Given the description of an element on the screen output the (x, y) to click on. 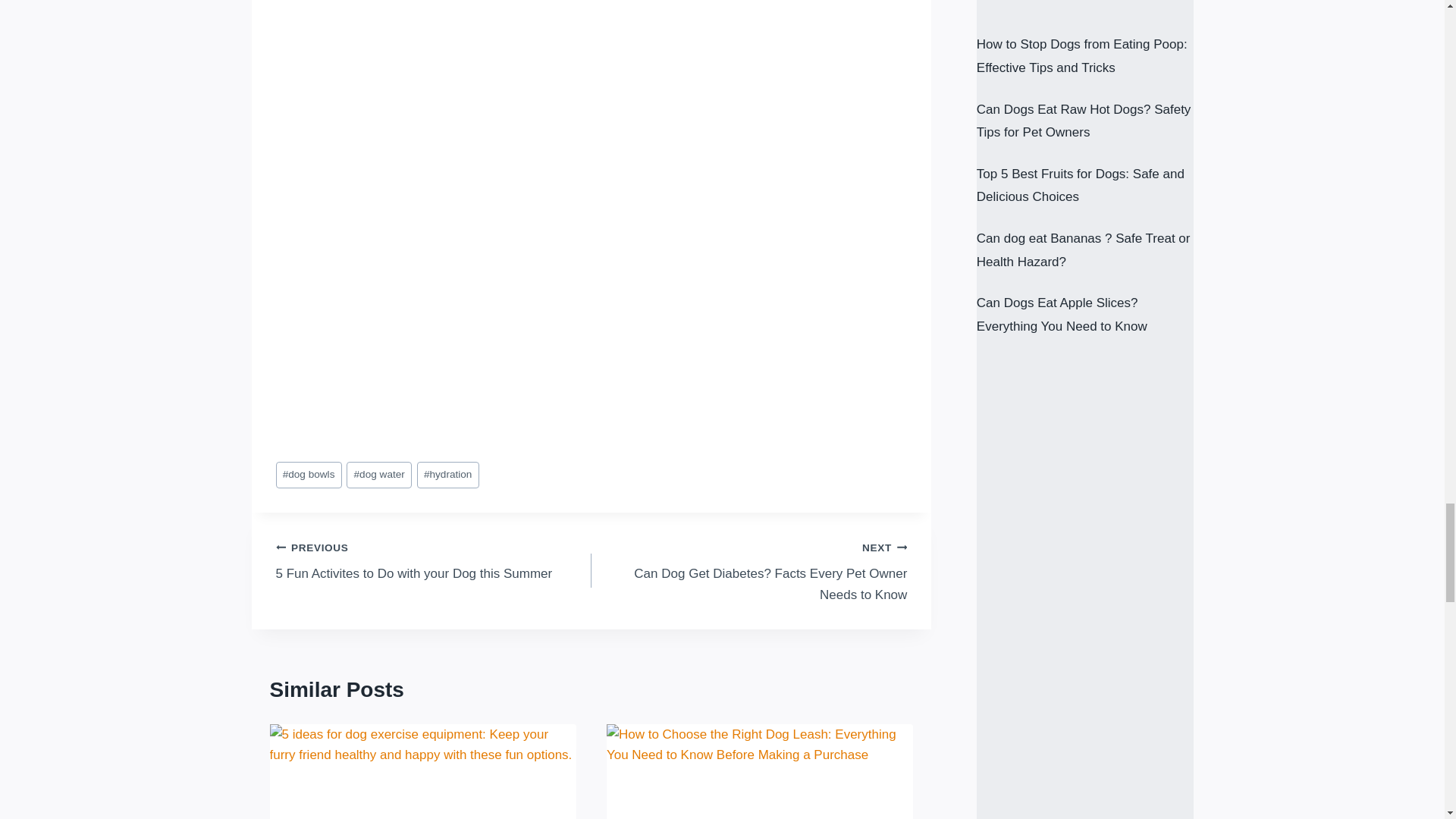
dog water (379, 474)
dog bowls (309, 474)
hydration (447, 474)
